Given the description of an element on the screen output the (x, y) to click on. 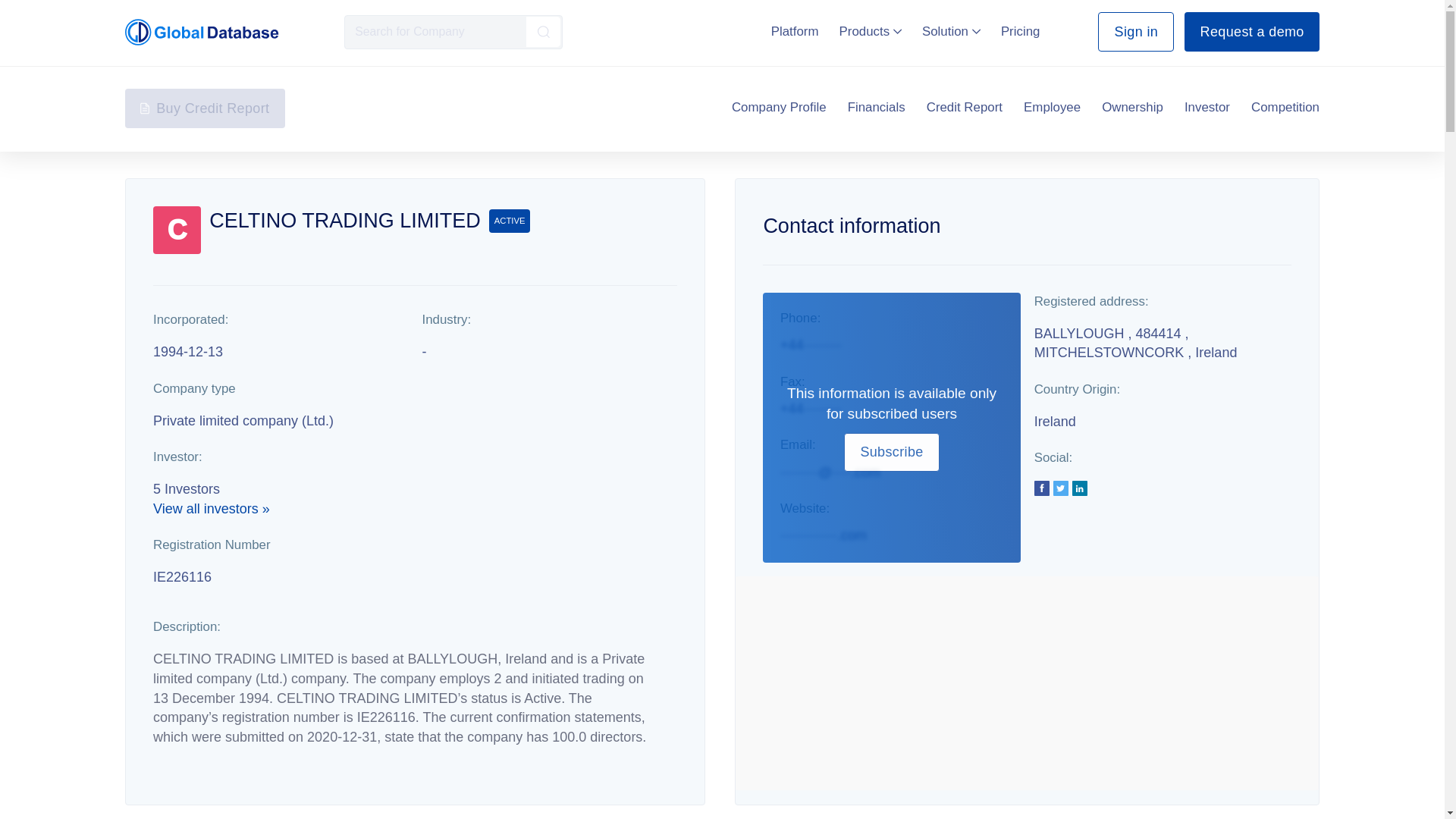
Financials (876, 107)
Pricing (1021, 31)
Company Profile (779, 107)
Platform (794, 31)
Request a demo (1252, 31)
Buy Credit Report (205, 107)
Employee (1051, 107)
Credit Report (964, 107)
Ownership (1132, 107)
Sign in (1135, 31)
